Given the description of an element on the screen output the (x, y) to click on. 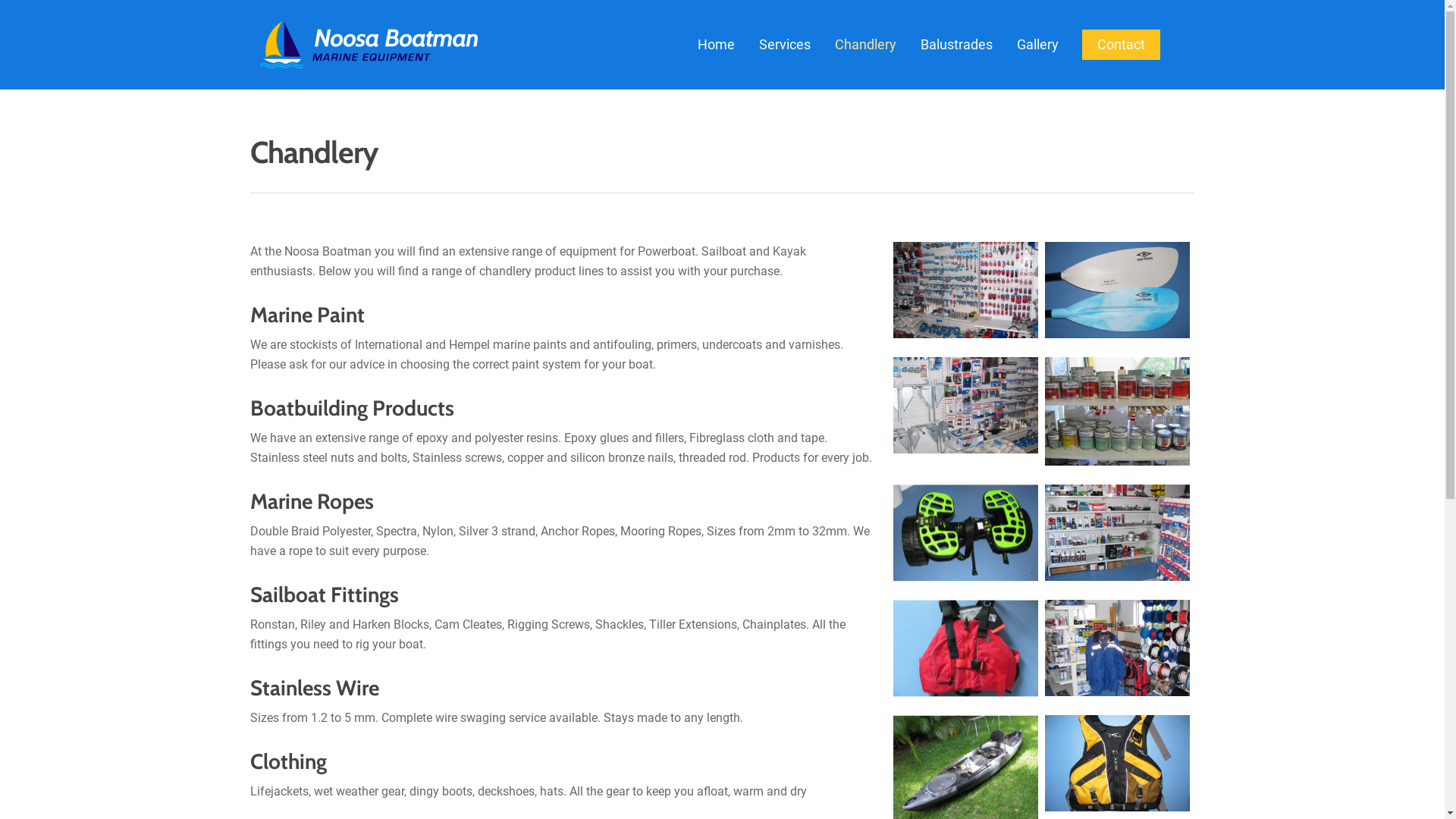
Contact Element type: text (1121, 43)
Services Element type: text (784, 43)
Chandlery Element type: text (865, 43)
Home Element type: text (716, 43)
Balustrades Element type: text (956, 43)
Gallery Element type: text (1037, 43)
